Given the description of an element on the screen output the (x, y) to click on. 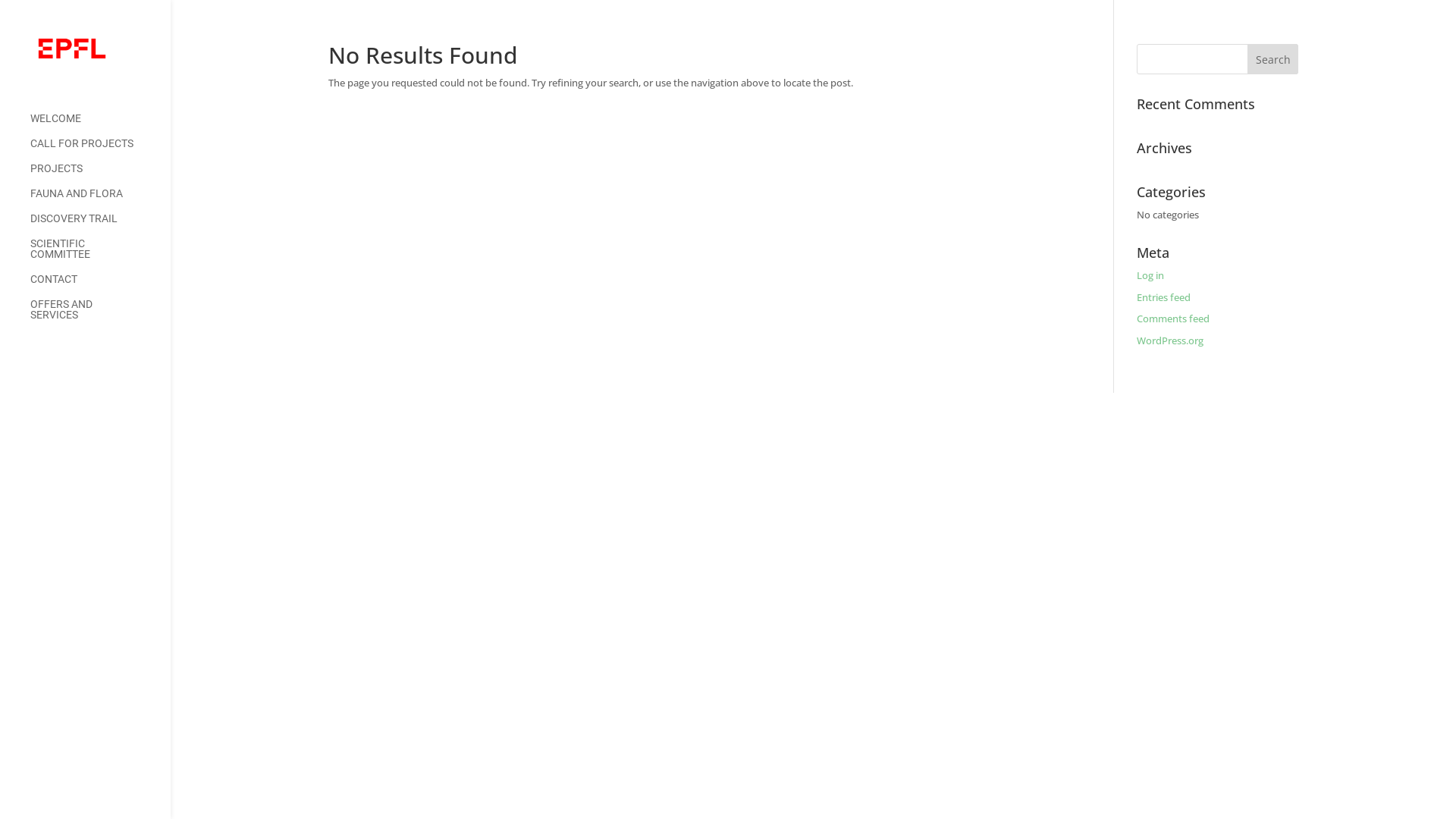
CALL FOR PROJECTS Element type: text (100, 150)
OFFERS AND SERVICES Element type: text (100, 316)
Search Element type: text (1273, 58)
SCIENTIFIC COMMITTEE Element type: text (100, 255)
Entries feed Element type: text (1163, 297)
CONTACT Element type: text (100, 285)
PROJECTS Element type: text (100, 175)
FAUNA AND FLORA Element type: text (100, 200)
WELCOME Element type: text (100, 125)
WordPress.org Element type: text (1169, 340)
DISCOVERY TRAIL Element type: text (100, 225)
Log in Element type: text (1150, 275)
Comments feed Element type: text (1172, 318)
